Given the description of an element on the screen output the (x, y) to click on. 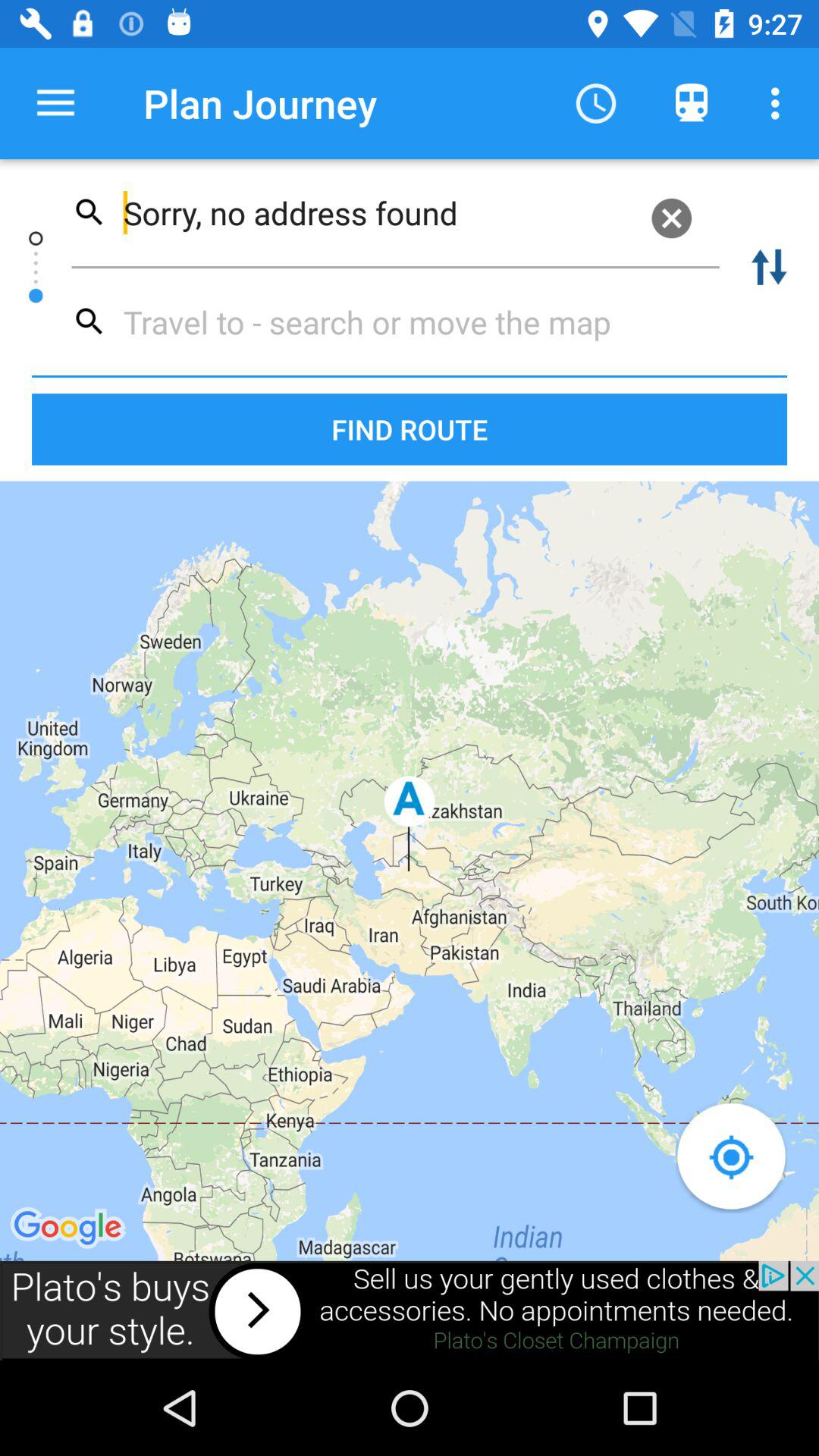
view advertisement (409, 1310)
